Given the description of an element on the screen output the (x, y) to click on. 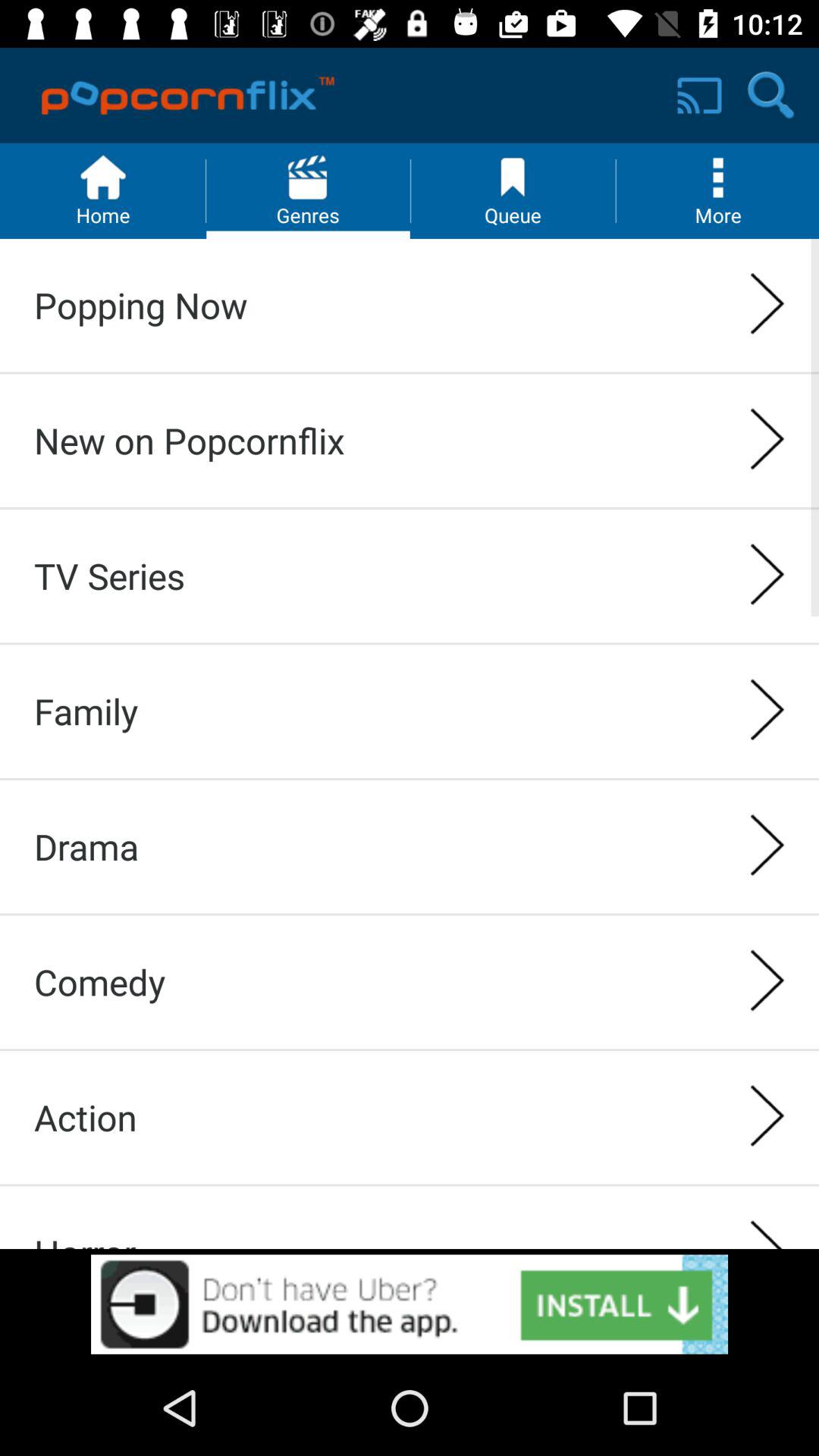
advertisement banner (409, 1304)
